Given the description of an element on the screen output the (x, y) to click on. 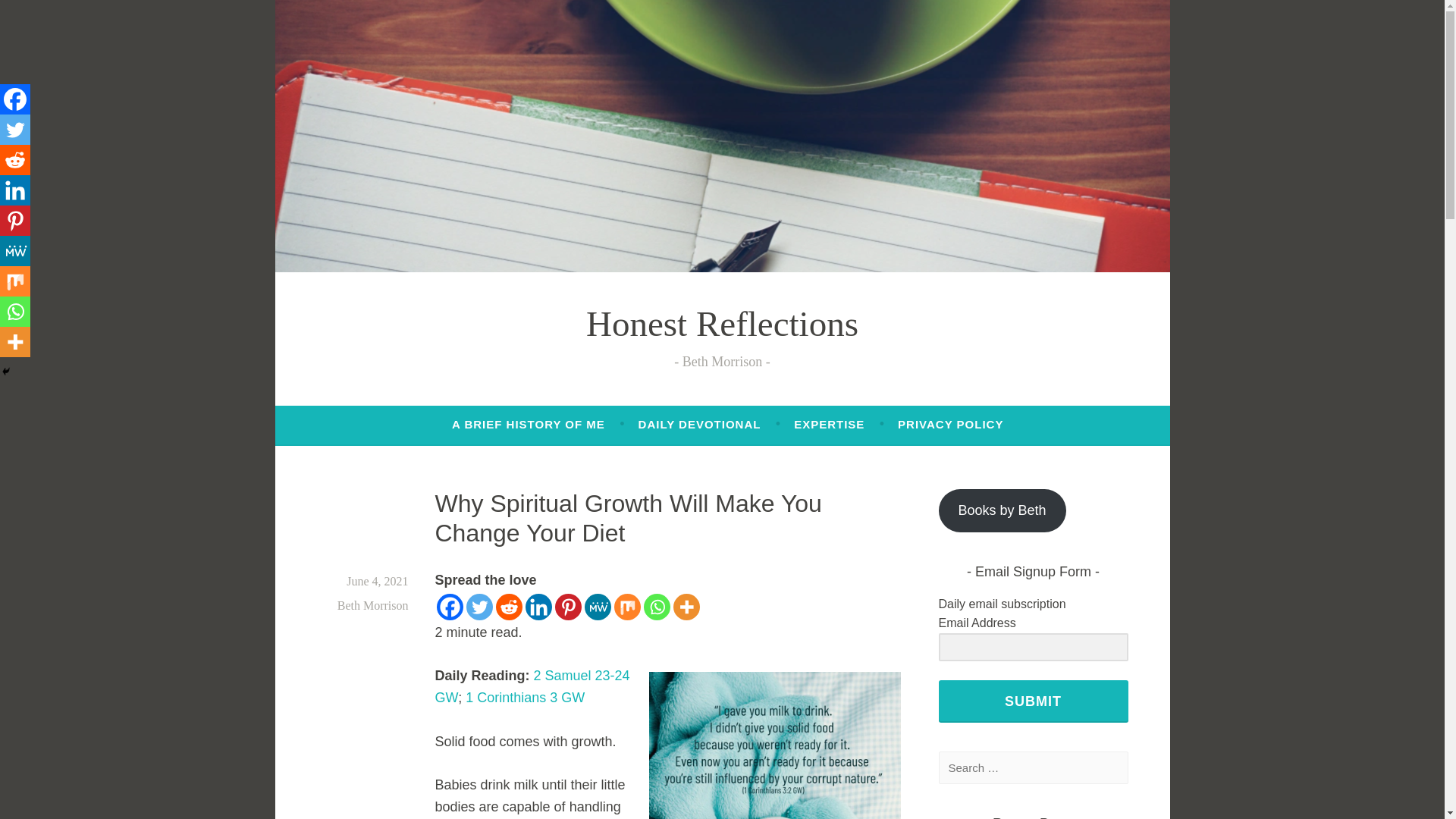
EXPERTISE (828, 424)
Facebook (15, 99)
Reddit (509, 606)
Linkedin (537, 606)
MeWe (15, 250)
Twitter (478, 606)
MeWe (596, 606)
Books by Beth (1002, 510)
Linkedin (15, 190)
Mix (627, 606)
June 4, 2021 (376, 581)
2 Samuel 23-24 GW (532, 686)
1 Corinthians 3 GW (525, 697)
Honest Reflections (722, 323)
Pinterest (15, 220)
